Given the description of an element on the screen output the (x, y) to click on. 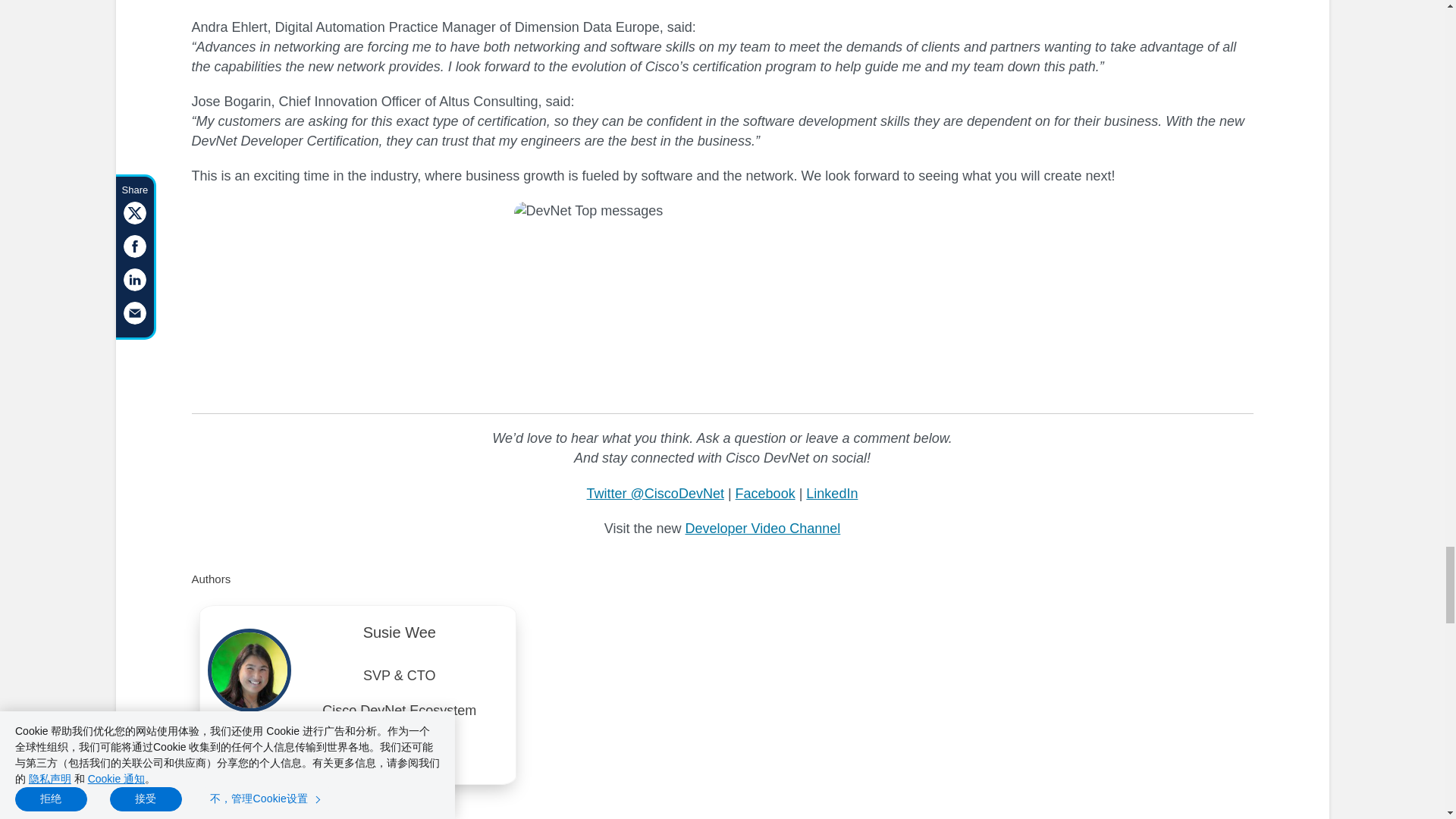
Facebook (764, 493)
Susie Wee (399, 635)
Developer Video Channel (762, 528)
LinkedIn (831, 493)
